Given the description of an element on the screen output the (x, y) to click on. 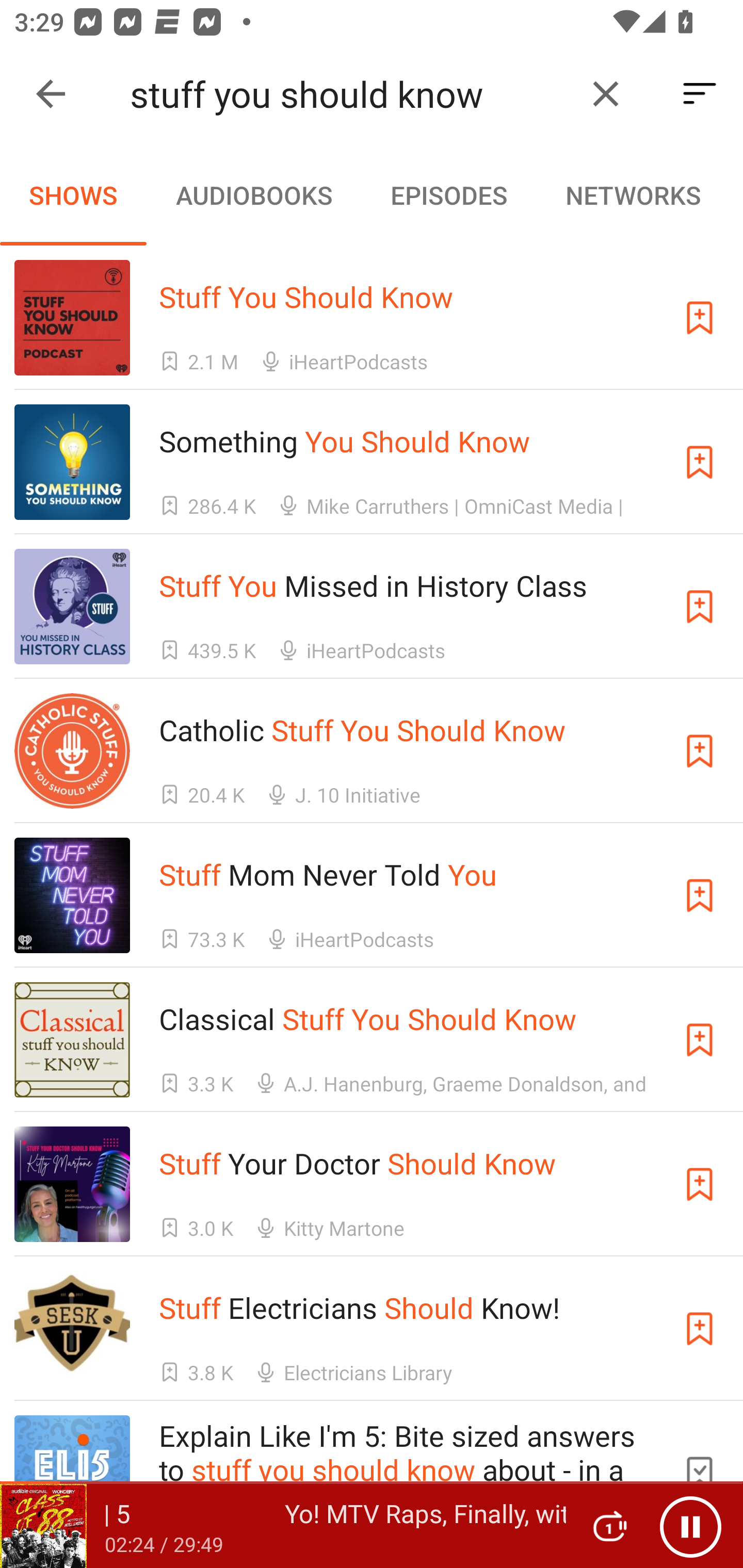
Collapse (50, 93)
Clear query (605, 93)
Sort By (699, 93)
stuff you should know (349, 94)
SHOWS (73, 195)
AUDIOBOOKS (253, 195)
EPISODES (448, 195)
NETWORKS (632, 195)
Subscribe (699, 317)
Subscribe (699, 462)
Subscribe (699, 606)
Subscribe (699, 751)
Subscribe (699, 895)
Subscribe (699, 1039)
Subscribe (699, 1183)
Subscribe (699, 1328)
Pause (690, 1526)
